Given the description of an element on the screen output the (x, y) to click on. 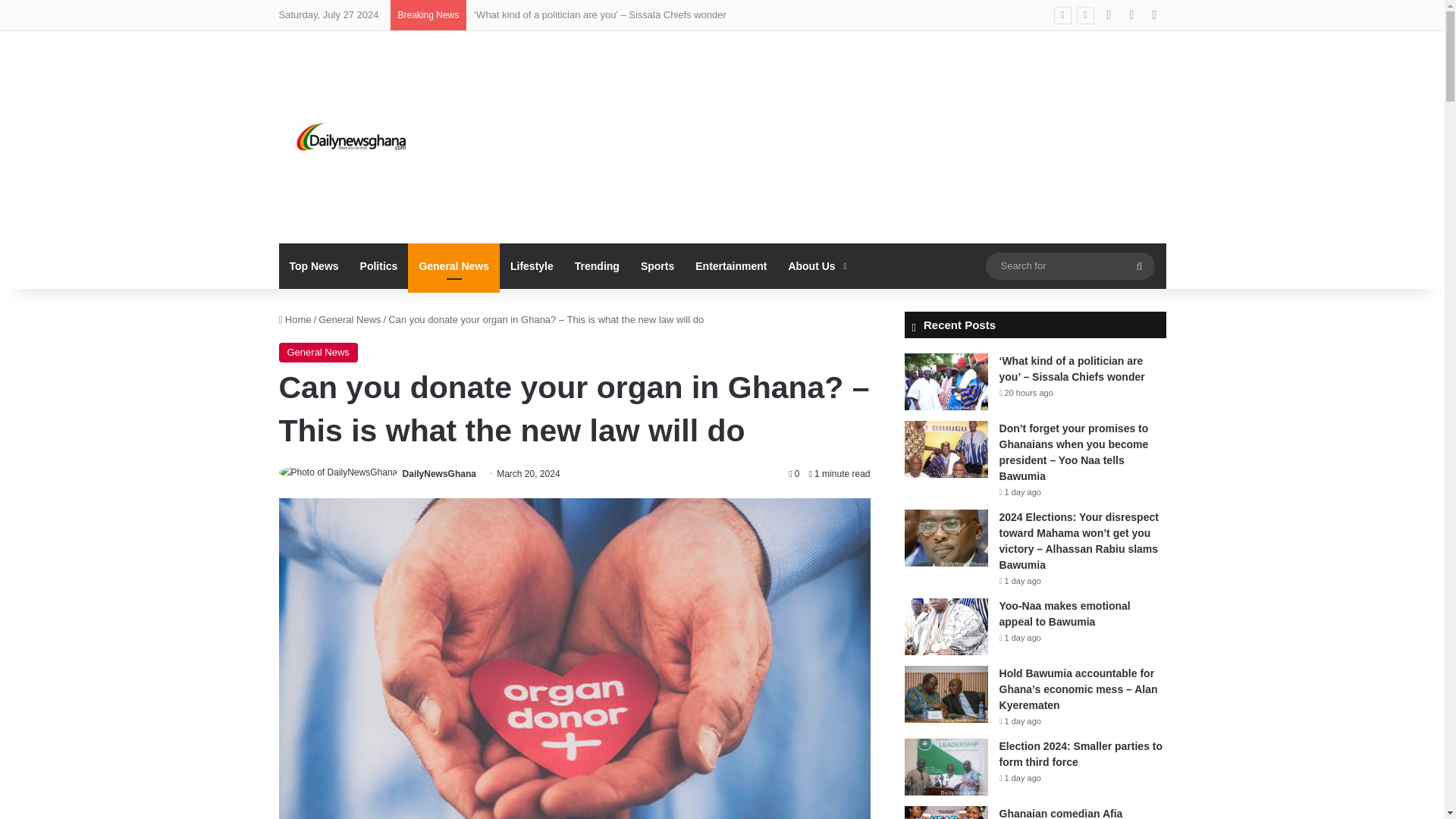
Home (295, 319)
Trending (597, 266)
Entertainment (730, 266)
Search for (1069, 265)
About Us (815, 266)
General News (349, 319)
General News (453, 266)
DailyNewsGhana (439, 473)
Sports (657, 266)
Search for (1139, 266)
Lifestyle (531, 266)
Politics (379, 266)
Dailynewsghana.Com (354, 136)
DailyNewsGhana (439, 473)
Top News (314, 266)
